Given the description of an element on the screen output the (x, y) to click on. 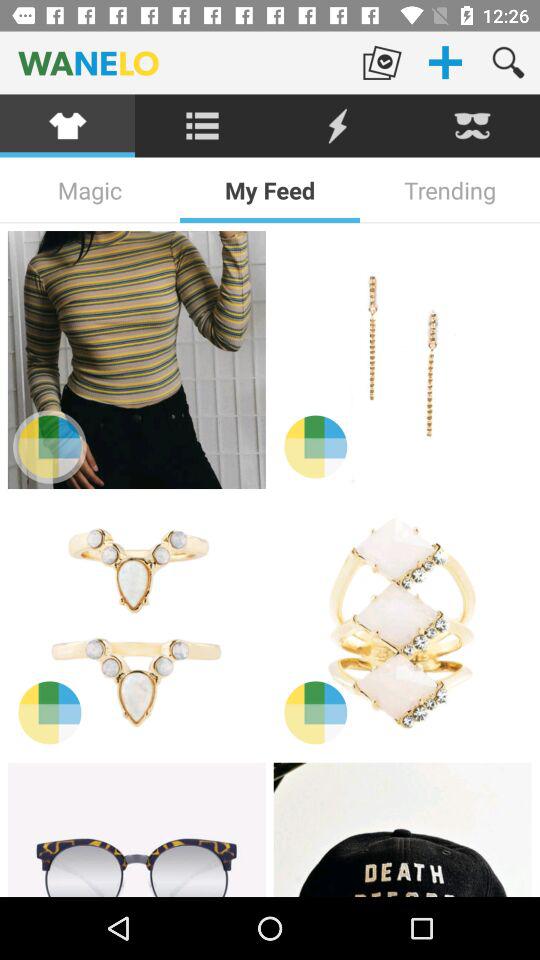
jump until wanelo item (175, 62)
